Given the description of an element on the screen output the (x, y) to click on. 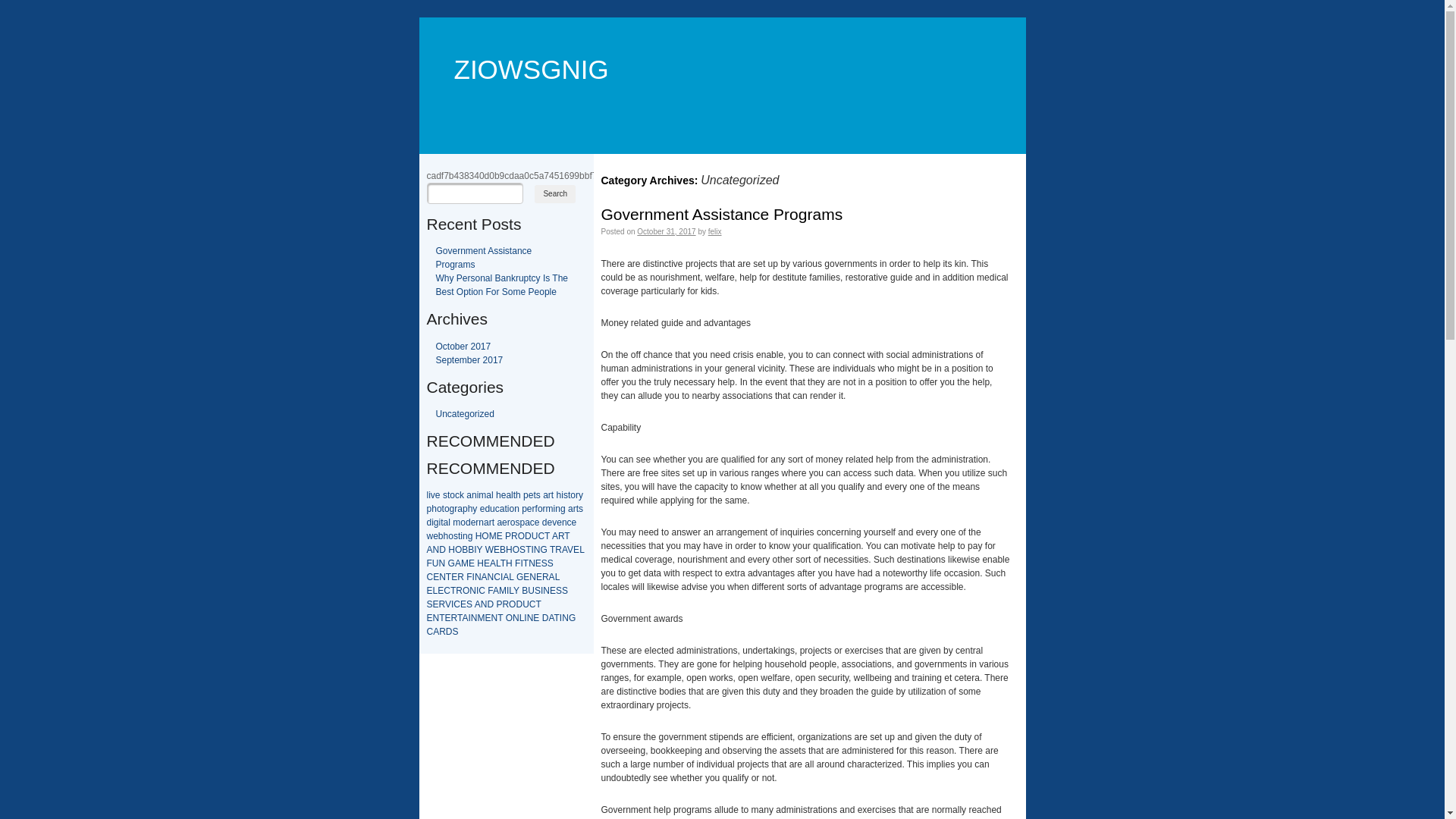
k Element type: text (461, 494)
c Element type: text (569, 522)
O Element type: text (508, 617)
R Element type: text (460, 576)
i Element type: text (562, 494)
S Element type: text (469, 604)
d Element type: text (467, 522)
h Element type: text (558, 494)
R Element type: text (561, 535)
I Element type: text (525, 617)
e Element type: text (529, 508)
i Element type: text (432, 522)
o Element type: text (512, 522)
N Element type: text (436, 617)
s Element type: text (444, 494)
d Element type: text (428, 522)
a Element type: text (499, 522)
N Element type: text (564, 617)
m Element type: text (549, 508)
o Element type: text (539, 508)
s Element type: text (580, 508)
I Element type: text (452, 604)
V Element type: text (570, 549)
N Element type: text (531, 563)
E Element type: text (486, 563)
H Element type: text (479, 563)
i Element type: text (429, 494)
T Element type: text (441, 617)
C Element type: text (456, 604)
d Element type: text (544, 522)
G Element type: text (519, 576)
o Element type: text (511, 508)
l Element type: text (427, 494)
C Element type: text (446, 590)
Uncategorized Element type: text (464, 413)
felix Element type: text (714, 231)
O Element type: text (515, 549)
n Element type: text (473, 494)
T Element type: text (556, 617)
T Element type: text (552, 549)
F Element type: text (468, 576)
B Element type: text (470, 549)
p Element type: text (525, 494)
E Element type: text (436, 604)
A Element type: text (552, 576)
I Element type: text (521, 563)
A Element type: text (458, 563)
U Element type: text (534, 535)
V Element type: text (448, 604)
N Element type: text (442, 563)
H Element type: text (508, 563)
S Element type: text (522, 549)
r Element type: text (574, 508)
i Element type: text (554, 508)
A Element type: text (495, 590)
a Element type: text (445, 522)
e Element type: text (473, 522)
g Element type: text (562, 508)
U Element type: text (435, 563)
D Element type: text (442, 549)
o Element type: text (446, 508)
I Element type: text (501, 576)
h Element type: text (433, 508)
C Element type: text (481, 590)
October 2017 Element type: text (462, 346)
E Element type: text (440, 590)
e Element type: text (530, 494)
N Element type: text (472, 590)
N Element type: text (436, 549)
t Element type: text (459, 535)
r Element type: text (508, 522)
s Element type: text (516, 522)
n Element type: text (464, 535)
m Element type: text (456, 522)
a Element type: text (459, 508)
o Element type: text (439, 508)
E Element type: text (463, 604)
T Element type: text (546, 535)
v Element type: text (432, 494)
R Element type: text (454, 617)
t Element type: text (568, 494)
D Element type: text (527, 535)
E Element type: text (436, 576)
Y Element type: text (479, 549)
e Element type: text (435, 535)
R Element type: text (558, 549)
e Element type: text (437, 494)
w Element type: text (429, 535)
h Element type: text (517, 494)
M Element type: text (502, 590)
A Element type: text (436, 631)
r Element type: text (544, 508)
l Element type: text (492, 494)
T Element type: text (499, 617)
i Element type: text (477, 494)
E Element type: text (429, 590)
Search Element type: text (554, 194)
L Element type: text (557, 576)
t Element type: text (493, 522)
e Element type: text (503, 494)
l Element type: text (512, 494)
R Element type: text (458, 590)
g Element type: text (470, 535)
D Element type: text (489, 604)
T Element type: text (527, 549)
a Element type: text (468, 494)
y Element type: text (474, 508)
E Element type: text (552, 590)
L Element type: text (521, 617)
S Element type: text (429, 604)
t Element type: text (505, 508)
r Element type: text (549, 494)
e Element type: text (574, 522)
R Element type: text (442, 604)
i Element type: text (440, 522)
N Element type: text (545, 590)
T Element type: text (459, 617)
y Element type: text (580, 494)
s Element type: text (455, 535)
L Element type: text (435, 590)
N Element type: text (536, 549)
L Element type: text (497, 563)
n Element type: text (516, 508)
a Element type: text (508, 494)
a Element type: text (486, 522)
N Element type: text (483, 604)
p Element type: text (524, 508)
o Element type: text (572, 494)
G Element type: text (451, 563)
N Element type: text (473, 617)
c Element type: text (457, 494)
I Element type: text (507, 590)
D Element type: text (518, 604)
M Element type: text (492, 535)
I Element type: text (531, 549)
U Element type: text (525, 604)
H Element type: text (478, 535)
October 31, 2017 Element type: text (666, 231)
T Element type: text (566, 535)
M Element type: text (480, 617)
C Element type: text (429, 576)
A Element type: text (484, 576)
r Element type: text (455, 508)
s Element type: text (565, 494)
R Element type: text (514, 535)
G Element type: text (571, 617)
o Element type: text (462, 522)
O Element type: text (511, 604)
R Element type: text (545, 576)
E Element type: text (487, 617)
R Element type: text (442, 631)
B Element type: text (524, 590)
I Element type: text (541, 590)
September 2017 Element type: text (468, 359)
I Element type: text (560, 617)
O Element type: text (484, 535)
E Element type: text (454, 576)
C Element type: text (532, 604)
E Element type: text (576, 549)
H Element type: text (508, 549)
r Element type: text (576, 494)
b Element type: text (440, 535)
F Element type: text (428, 563)
h Element type: text (445, 535)
T Element type: text (502, 563)
M Element type: text (464, 563)
a Element type: text (545, 494)
Y Element type: text (516, 590)
t Element type: text (443, 508)
n Element type: text (557, 508)
L Element type: text (510, 576)
i Element type: text (461, 535)
N Element type: text (494, 617)
T Element type: text (448, 576)
d Element type: text (486, 508)
A Element type: text (505, 576)
e Element type: text (549, 522)
G Element type: text (542, 549)
A Element type: text (550, 617)
t Element type: text (552, 494)
Government Assistance Programs Element type: text (483, 257)
T Element type: text (525, 563)
a Element type: text (502, 508)
p Element type: text (521, 522)
r Element type: text (476, 522)
F Element type: text (489, 590)
o Element type: text (452, 494)
o Element type: text (450, 535)
R Element type: text (505, 604)
F Element type: text (517, 563)
T Element type: text (537, 604)
g Element type: text (436, 522)
t Element type: text (577, 508)
A Element type: text (464, 617)
N Element type: text (530, 617)
E Element type: text (429, 617)
N Element type: text (477, 576)
t Element type: text (534, 494)
E Element type: text (448, 617)
B Element type: text (502, 549)
P Element type: text (508, 535)
e Element type: text (536, 522)
N Element type: text (490, 576)
E Element type: text (539, 576)
N Element type: text (515, 617)
C Element type: text (540, 535)
S Element type: text (564, 590)
l Element type: text (449, 522)
I Element type: text (473, 576)
a Element type: text (488, 494)
B Element type: text (464, 549)
I Element type: text (477, 590)
v Element type: text (554, 522)
I Element type: text (468, 617)
E Element type: text (496, 549)
n Element type: text (480, 522)
E Element type: text (536, 617)
a Element type: text (570, 508)
O Element type: text (465, 590)
E Element type: text (499, 535)
e Element type: text (504, 522)
n Element type: text (564, 522)
D Element type: text (545, 617)
E Element type: text (471, 563)
ZIOWSGNIG Element type: text (522, 46)
S Element type: text (550, 563)
g Element type: text (452, 508)
W Element type: text (489, 549)
T Element type: text (452, 590)
m Element type: text (482, 494)
A Element type: text (477, 604)
C Element type: text (496, 576)
t Element type: text (441, 522)
U Element type: text (530, 590)
r Element type: text (533, 508)
D Element type: text (448, 631)
h Element type: text (470, 508)
r Element type: text (490, 522)
P Element type: text (498, 604)
L Element type: text (581, 549)
e Element type: text (482, 508)
H Element type: text (451, 549)
O Element type: text (520, 535)
h Element type: text (498, 494)
S Element type: text (544, 563)
c Element type: text (532, 522)
A Element type: text (555, 535)
p Element type: text (464, 508)
O Element type: text (458, 549)
p Element type: text (428, 508)
E Element type: text (526, 576)
a Element type: text (527, 522)
S Element type: text (558, 590)
L Element type: text (510, 590)
t Element type: text (514, 494)
c Element type: text (497, 508)
u Element type: text (492, 508)
Why Personal Bankruptcy Is The Best Option For Some People Element type: text (501, 285)
A Element type: text (492, 563)
e Element type: text (558, 522)
E Element type: text (538, 563)
s Element type: text (538, 494)
i Element type: text (508, 508)
A Element type: text (564, 549)
C Element type: text (429, 631)
f Element type: text (536, 508)
N Element type: text (442, 576)
t Element type: text (448, 494)
S Element type: text (455, 631)
I Element type: text (474, 549)
N Element type: text (532, 576)
S Element type: text (537, 590)
A Element type: text (429, 549)
Government Assistance Programs Element type: text (721, 213)
